Given the description of an element on the screen output the (x, y) to click on. 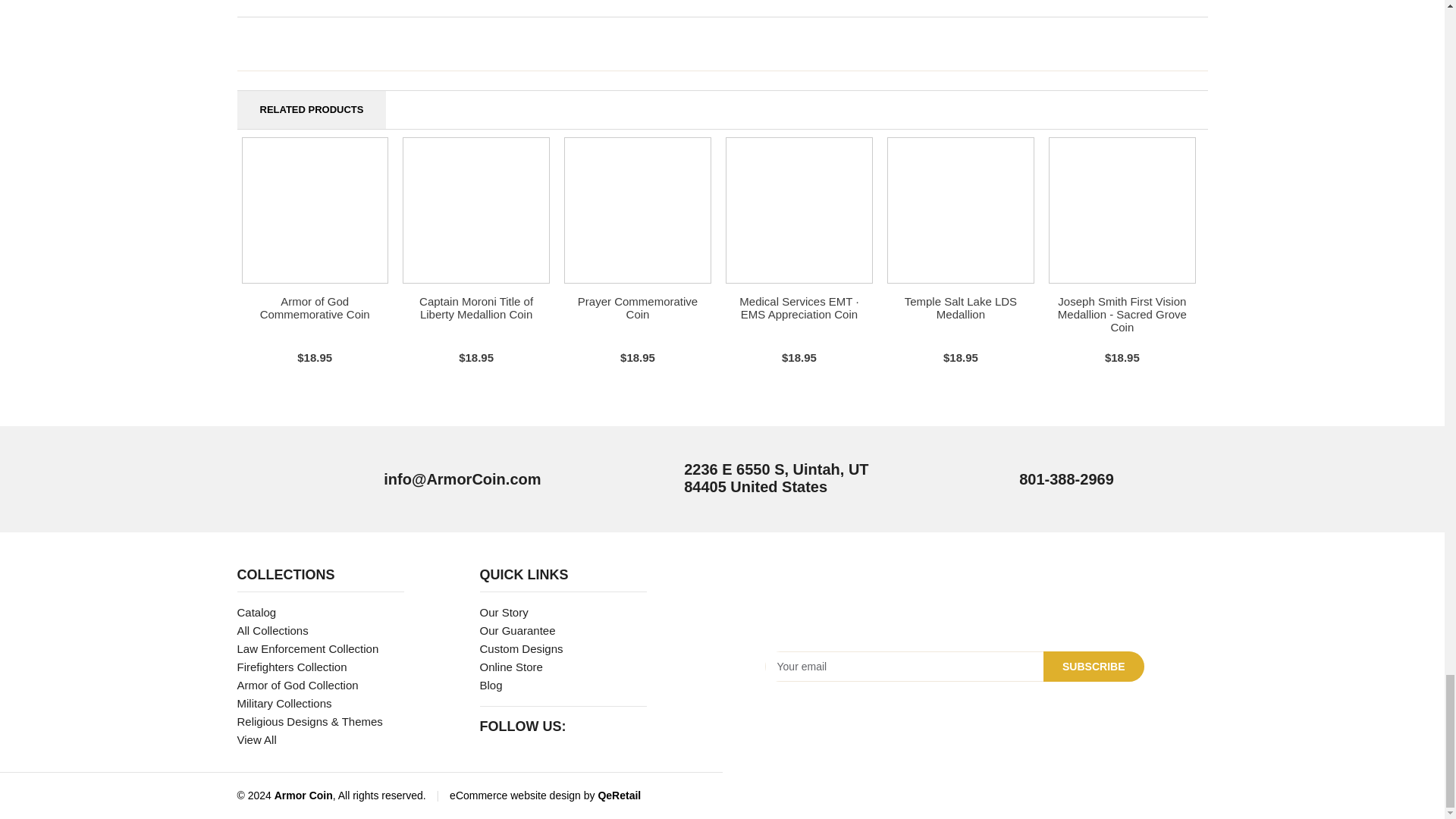
subscribe (1092, 666)
Captain Moroni Title of Liberty Medallion Coin (475, 307)
Armor of God Commemorative Coin (314, 307)
TOP PICK (315, 210)
Prayer Commemorative Coin (637, 307)
TOP PICK (637, 210)
